Given the description of an element on the screen output the (x, y) to click on. 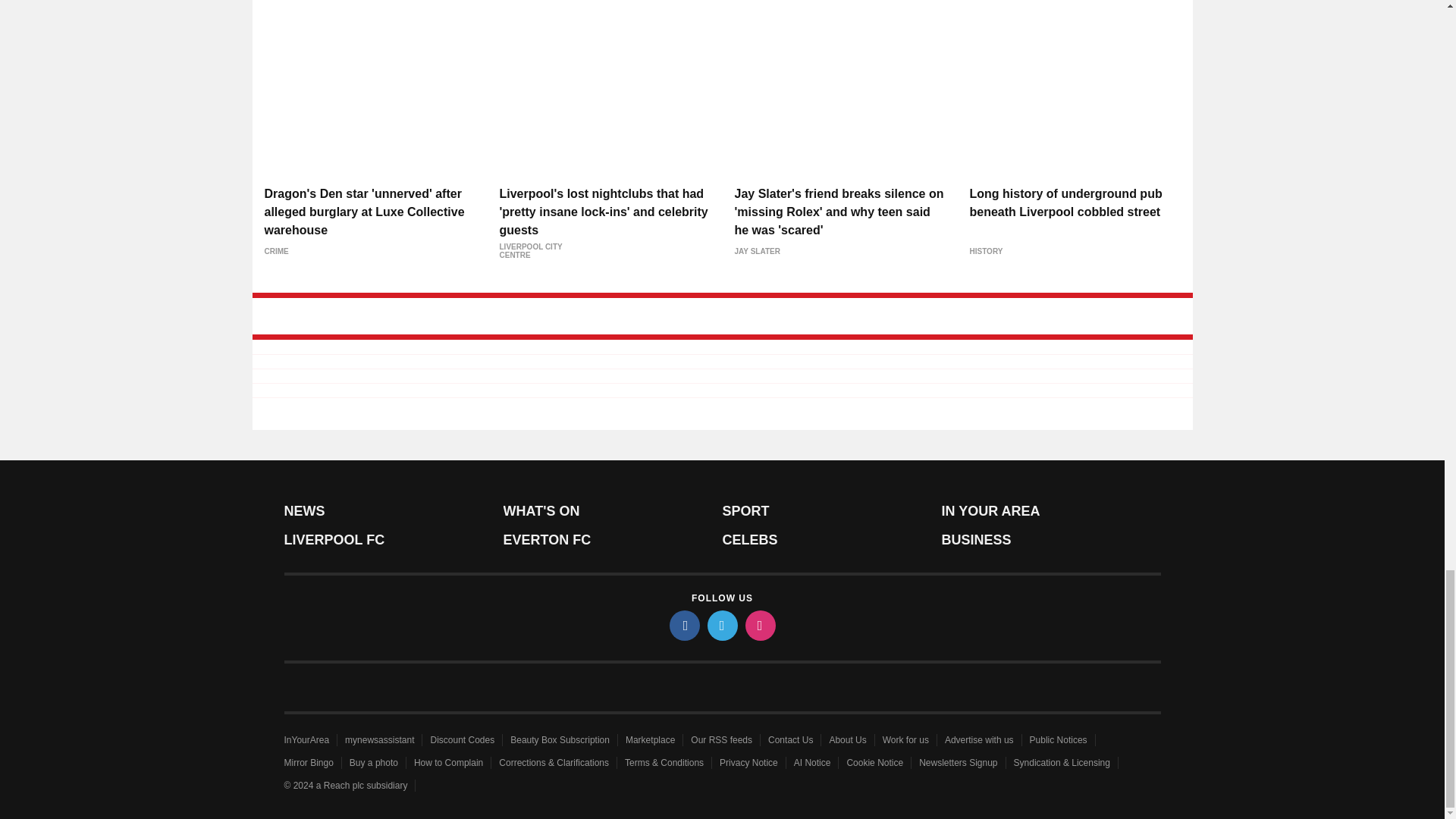
facebook (683, 625)
instagram (759, 625)
twitter (721, 625)
